Given the description of an element on the screen output the (x, y) to click on. 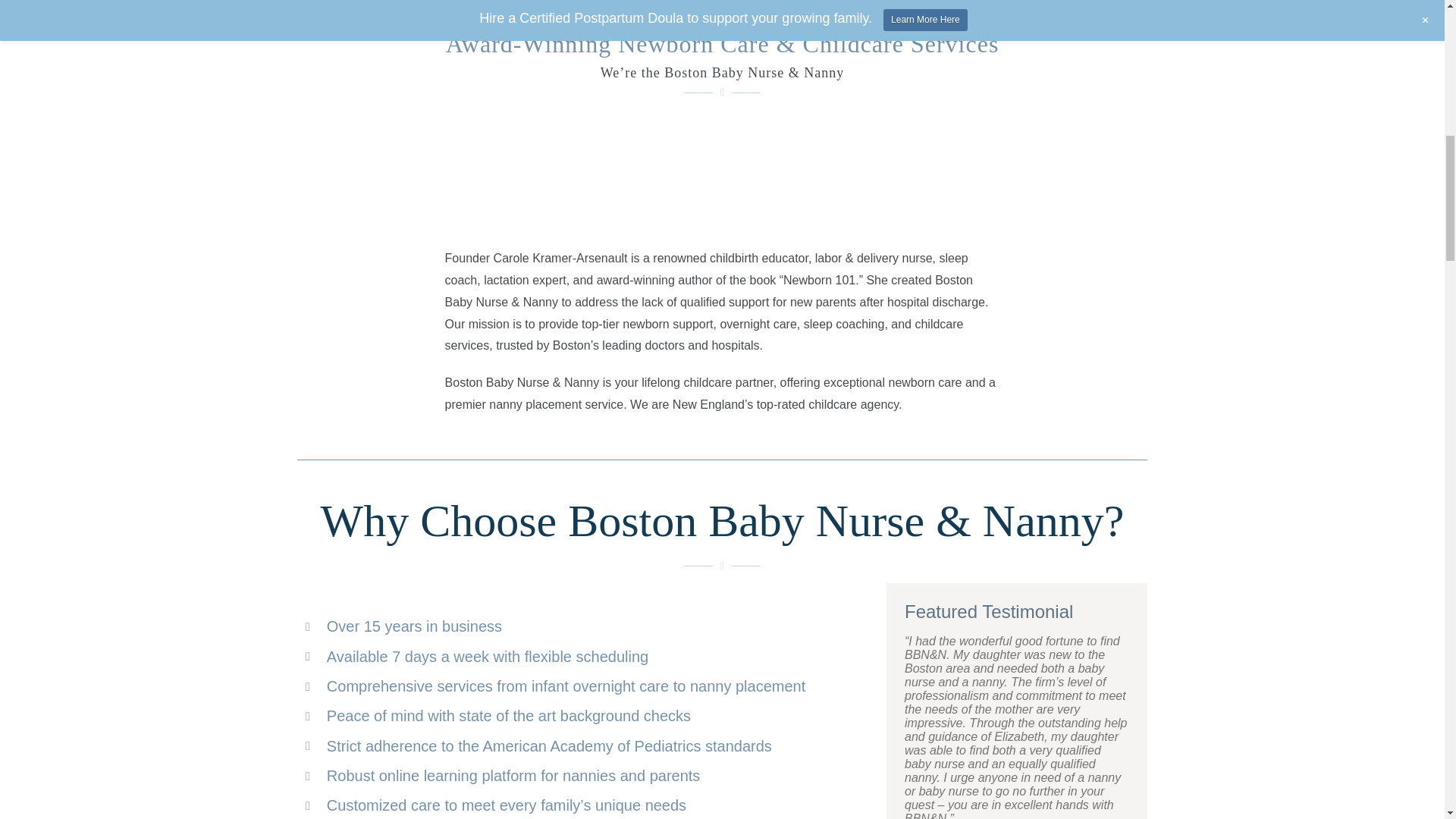
2024 Award Winning Agency Boston (721, 178)
